Given the description of an element on the screen output the (x, y) to click on. 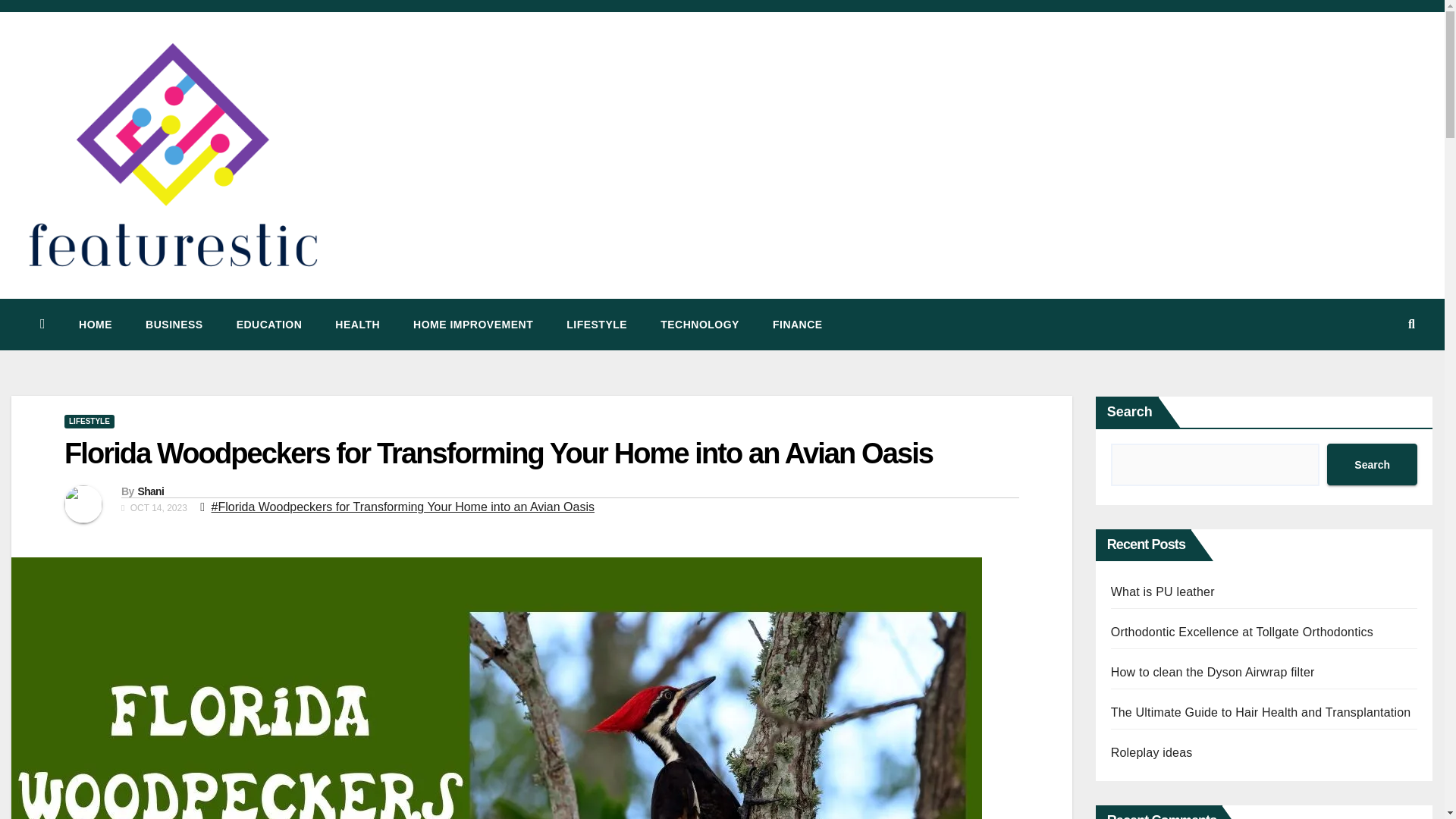
Health (357, 323)
HOME IMPROVEMENT (473, 323)
Finance (797, 323)
EDUCATION (268, 323)
Lifestyle (596, 323)
HEALTH (357, 323)
TECHNOLOGY (699, 323)
Home (95, 323)
BUSINESS (174, 323)
